Given the description of an element on the screen output the (x, y) to click on. 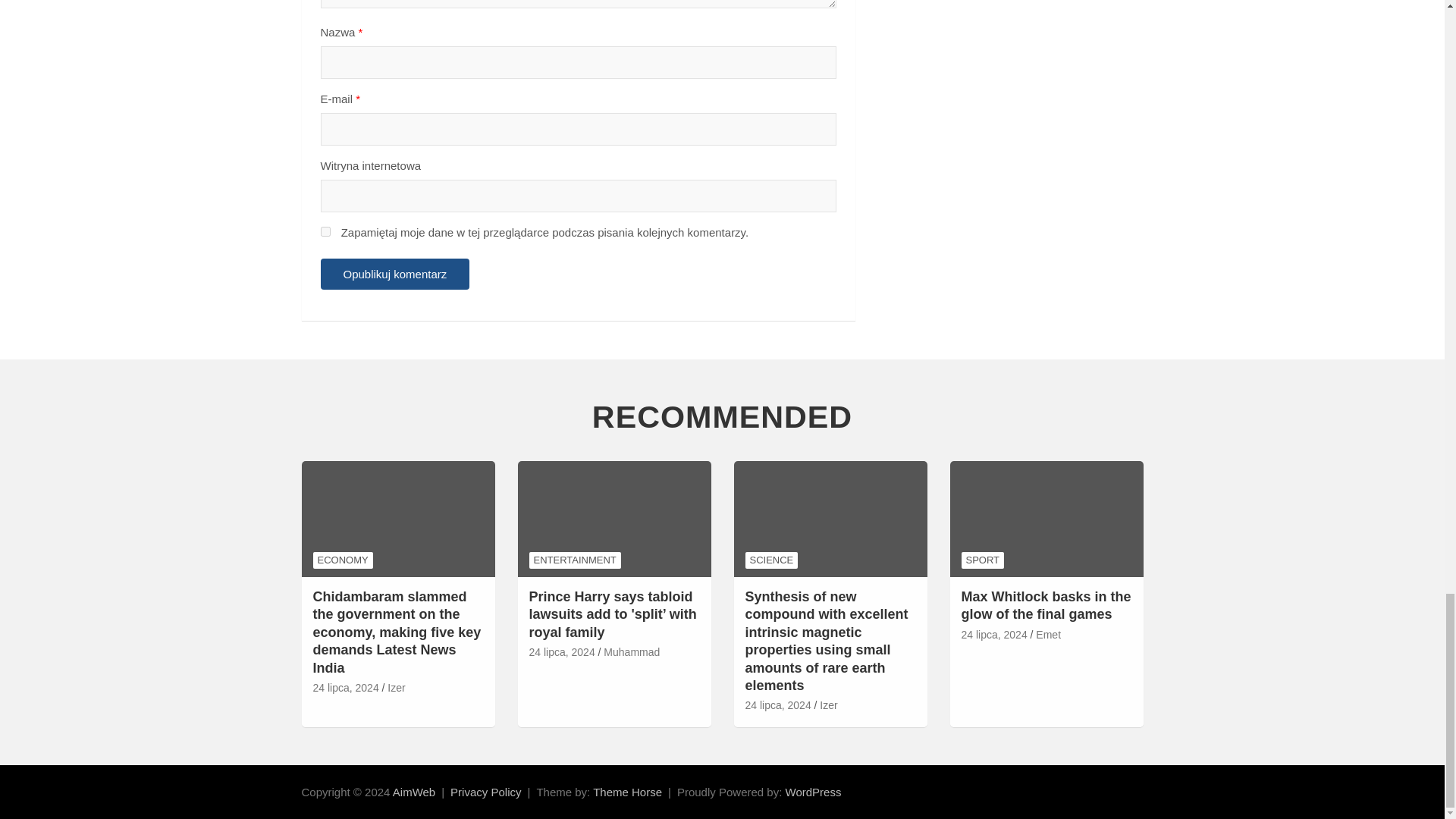
Max Whitlock basks in the glow of the final games (993, 635)
24 lipca, 2024 (345, 688)
yes (325, 231)
Opublikuj komentarz (394, 273)
Theme Horse (627, 791)
ECONOMY (342, 560)
Opublikuj komentarz (394, 273)
WordPress (813, 791)
AimWeb (414, 791)
